Given the description of an element on the screen output the (x, y) to click on. 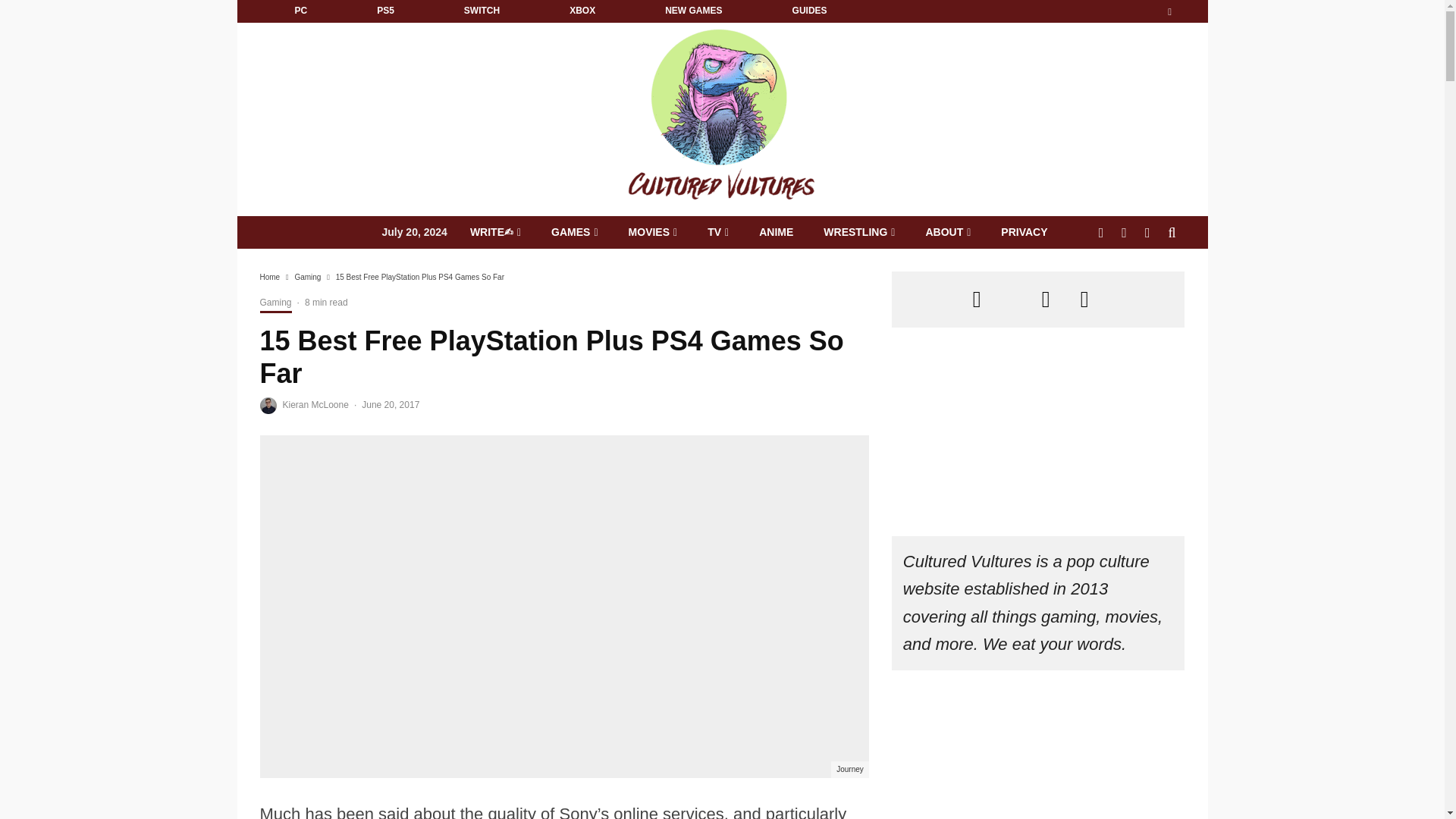
PC (300, 11)
XBOX (582, 11)
GAMES (573, 232)
New Games Coming Out (693, 11)
NEW GAMES (693, 11)
PS5 News (385, 11)
Video Game Guides (809, 11)
PS5 (385, 11)
GUIDES (809, 11)
Switch News (481, 11)
SWITCH (481, 11)
